Given the description of an element on the screen output the (x, y) to click on. 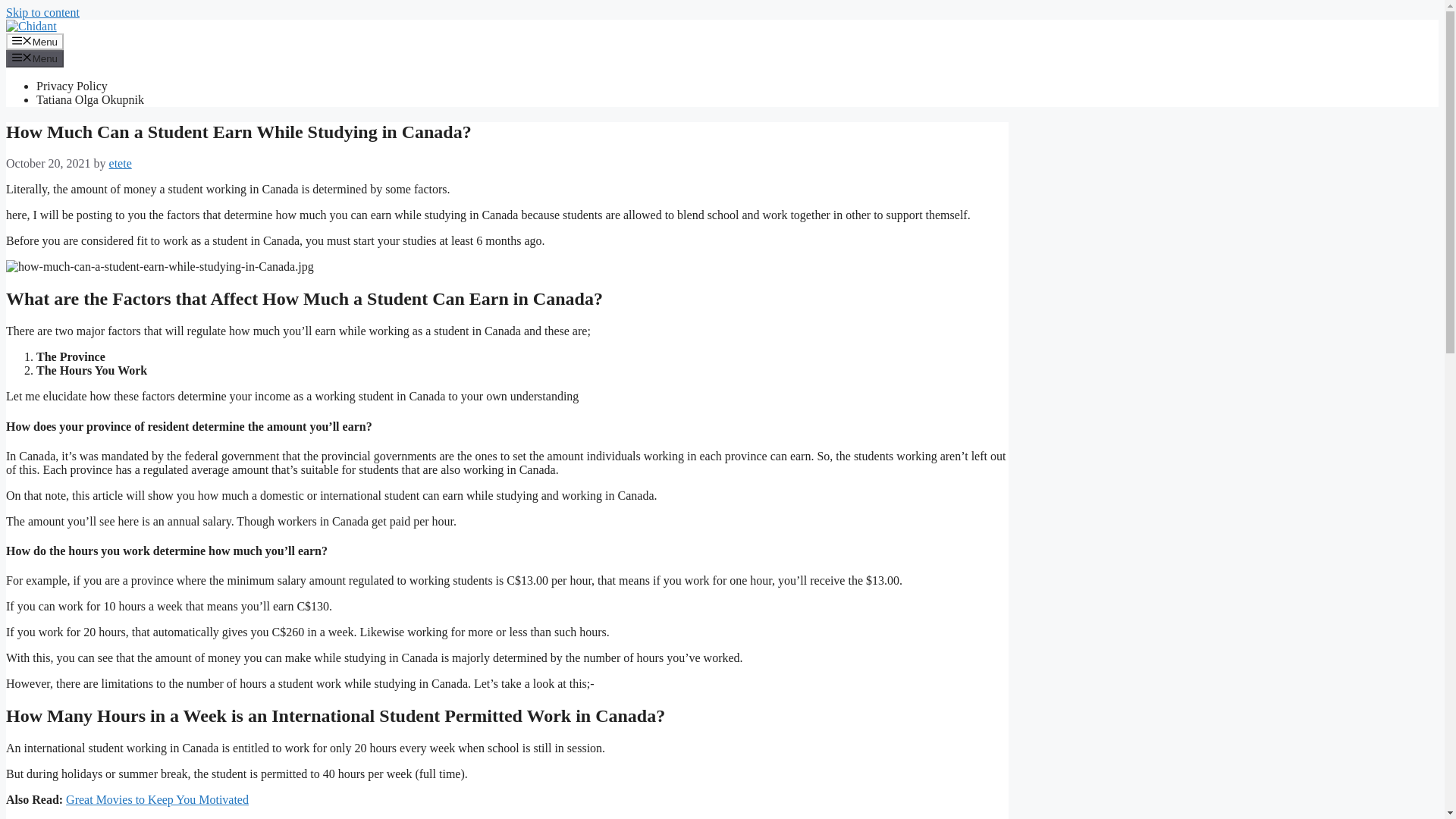
Tatiana Olga Okupnik (90, 99)
Privacy Policy (71, 85)
Great Movies to Keep You Motivated (156, 799)
etete (120, 163)
Menu (34, 41)
View all posts by etete (120, 163)
Skip to content (42, 11)
Menu (34, 57)
Skip to content (42, 11)
